Given the description of an element on the screen output the (x, y) to click on. 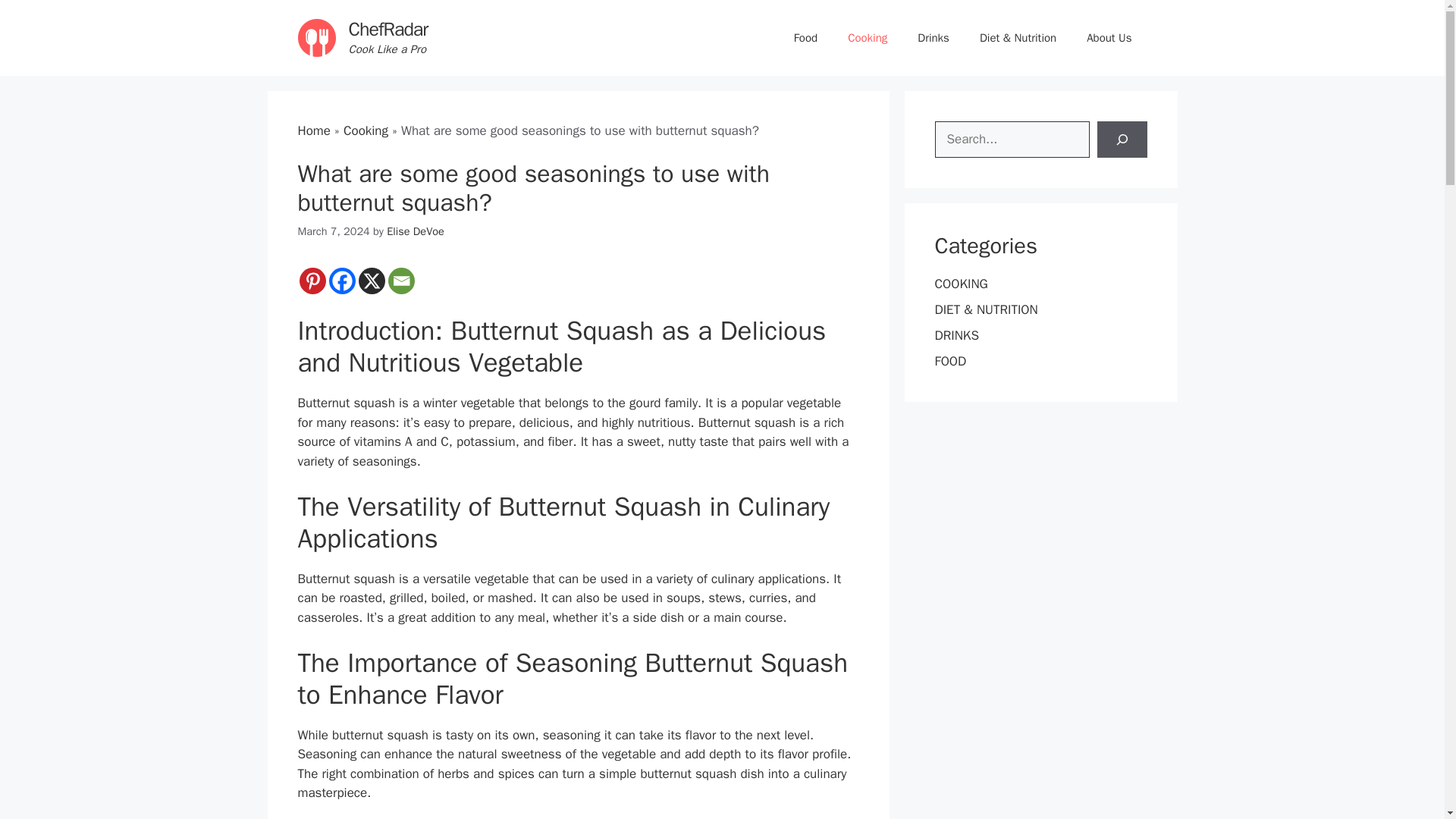
View all posts by Elise DeVoe (415, 231)
ChefRadar (388, 28)
Facebook (342, 280)
Cooking (365, 130)
Elise DeVoe (415, 231)
DRINKS (956, 335)
X (371, 280)
Food (805, 37)
Cooking (867, 37)
Drinks (932, 37)
